Given the description of an element on the screen output the (x, y) to click on. 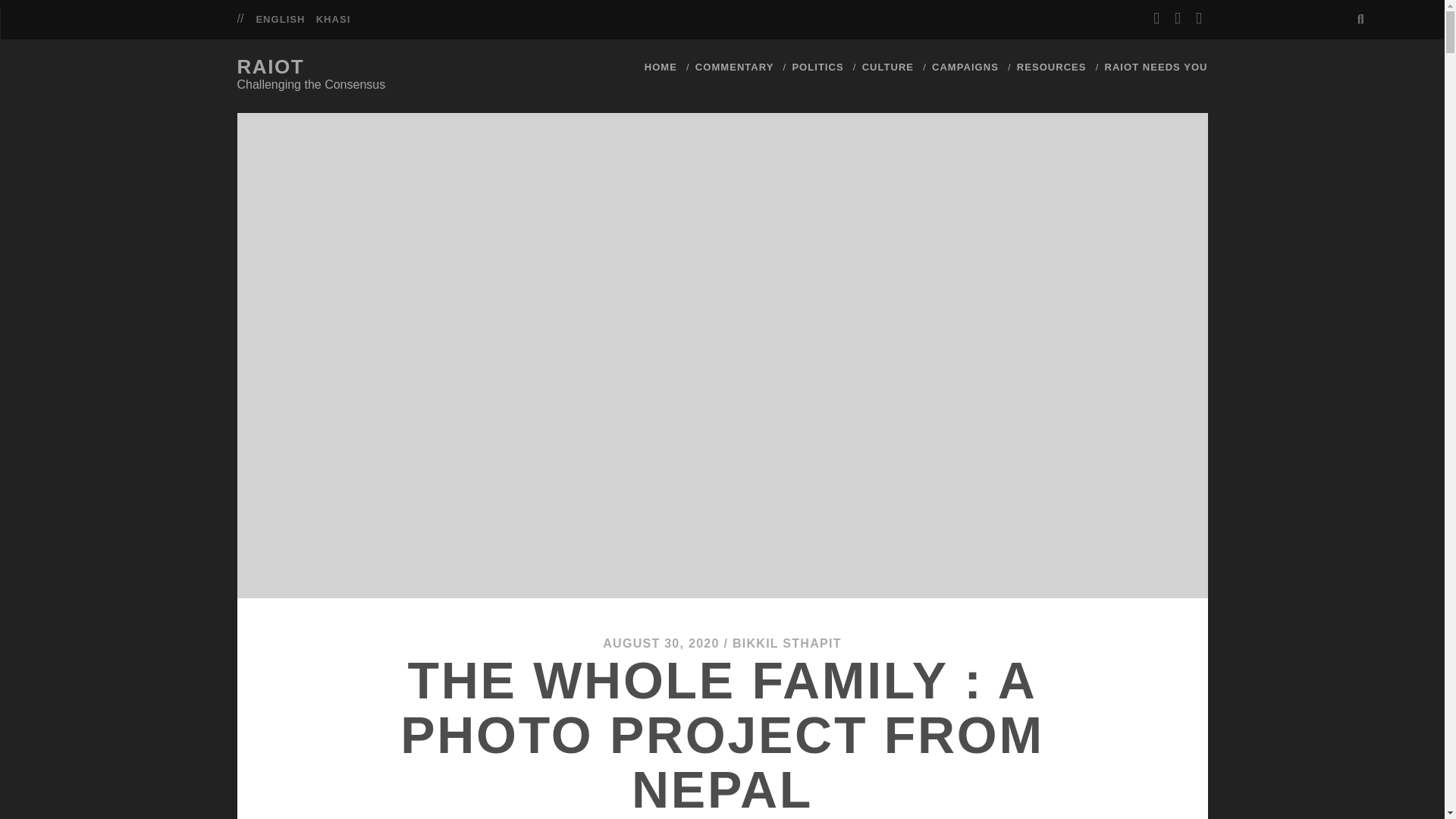
RAIOT NEEDS YOU (1155, 67)
COMMENTARY (734, 67)
Posts by Bikkil Sthapit (786, 643)
CULTURE (887, 67)
CAMPAIGNS (964, 67)
HOME (661, 67)
BIKKIL STHAPIT (786, 643)
RESOURCES (1051, 67)
KHASI (332, 19)
POLITICS (817, 67)
ENGLISH (280, 19)
RAIOT (269, 66)
